Given the description of an element on the screen output the (x, y) to click on. 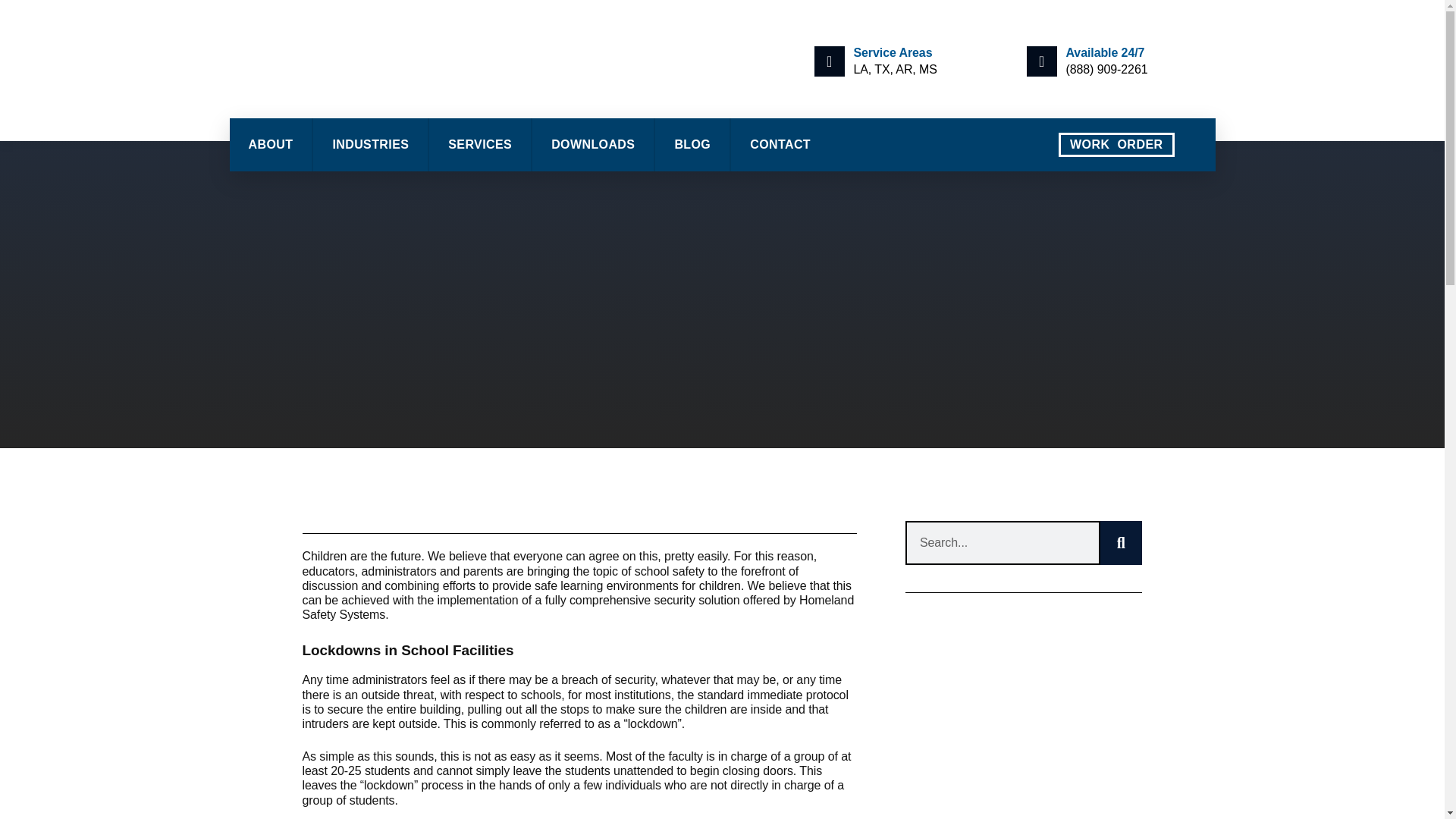
BLOG (692, 144)
DOWNLOADS (592, 144)
ABOUT (269, 144)
SERVICES (480, 144)
INDUSTRIES (370, 144)
WORK ORDER (1116, 144)
CONTACT (779, 144)
